Given the description of an element on the screen output the (x, y) to click on. 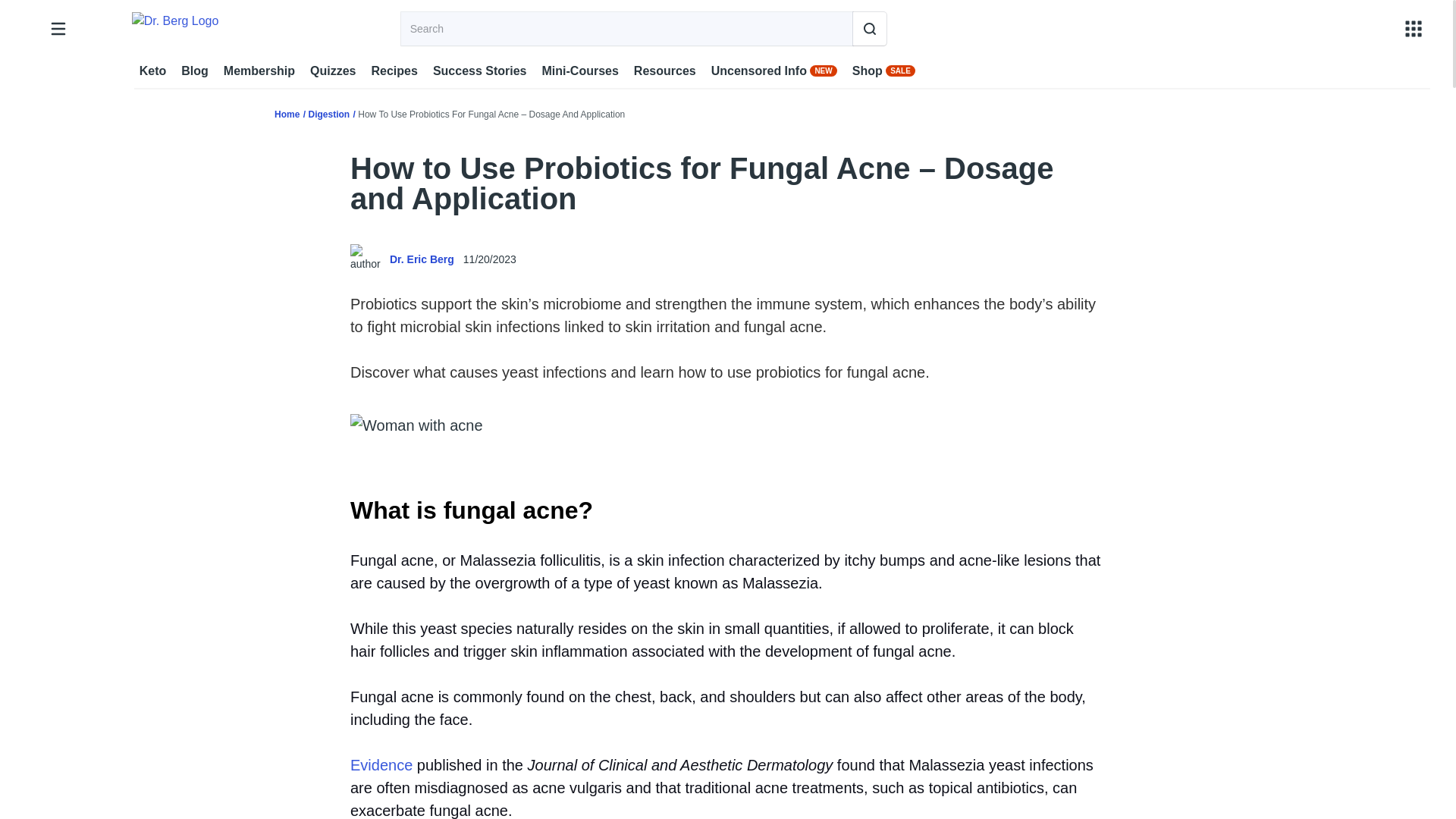
Mini-Courses (580, 70)
Uncensored Info NEW (773, 70)
Shop SALE (883, 70)
Home (287, 113)
Success Stories (479, 70)
Keto (153, 70)
Digestion (328, 113)
Resources (664, 70)
Quizzes (332, 70)
Recipes (394, 70)
